Given the description of an element on the screen output the (x, y) to click on. 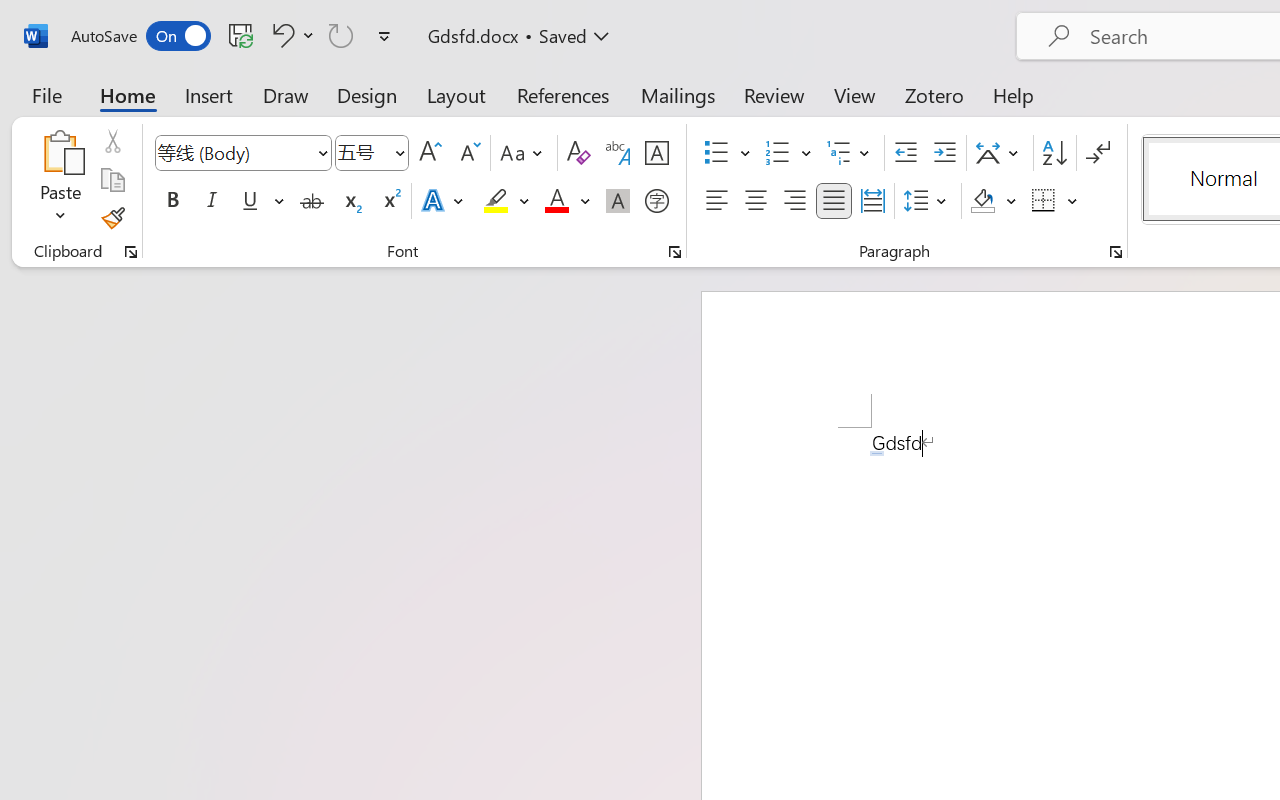
Text Highlight Color (506, 201)
Center (756, 201)
